Given the description of an element on the screen output the (x, y) to click on. 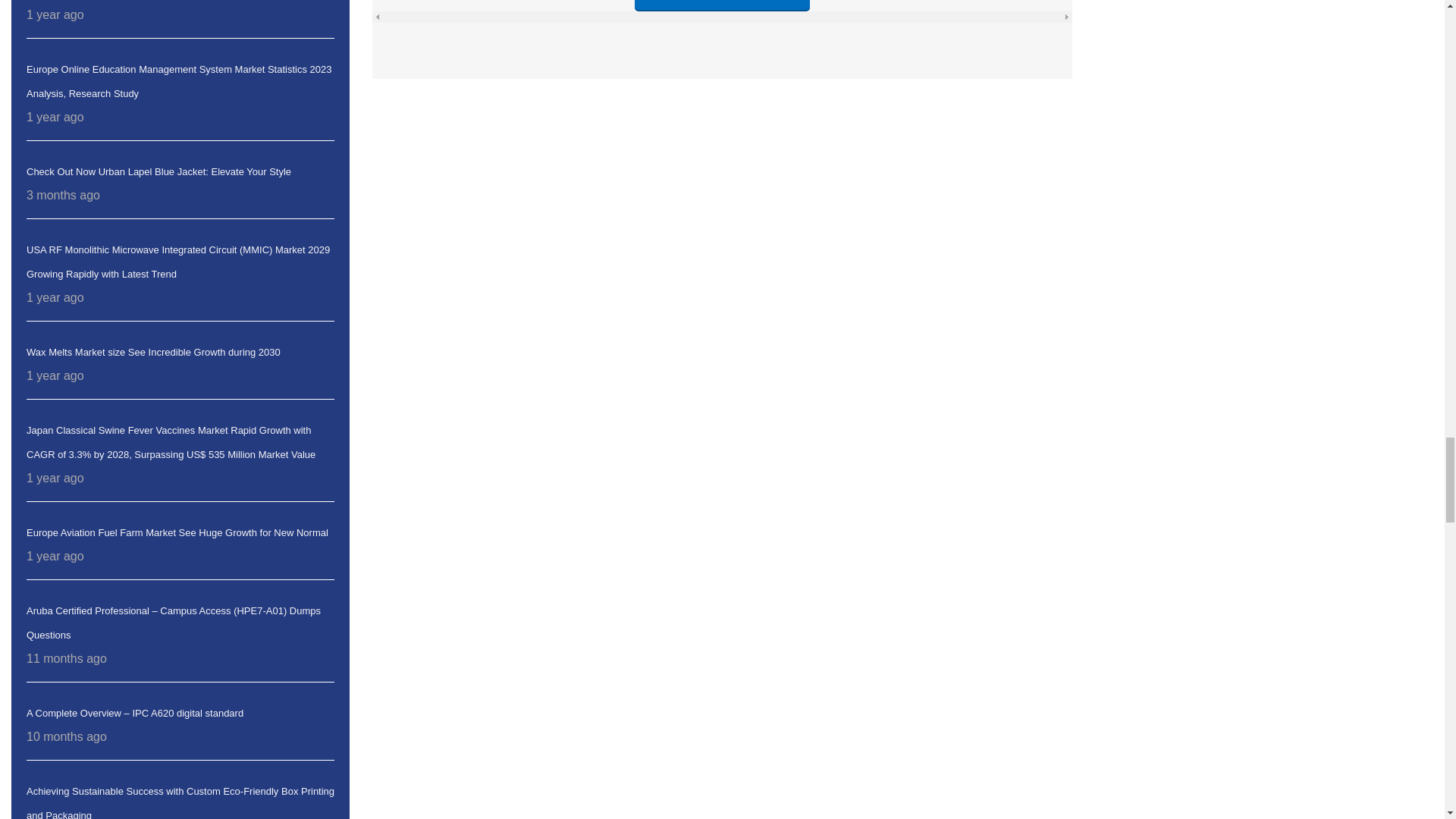
 ACCESS CORPORATE TRAINING  (721, 6)
